Given the description of an element on the screen output the (x, y) to click on. 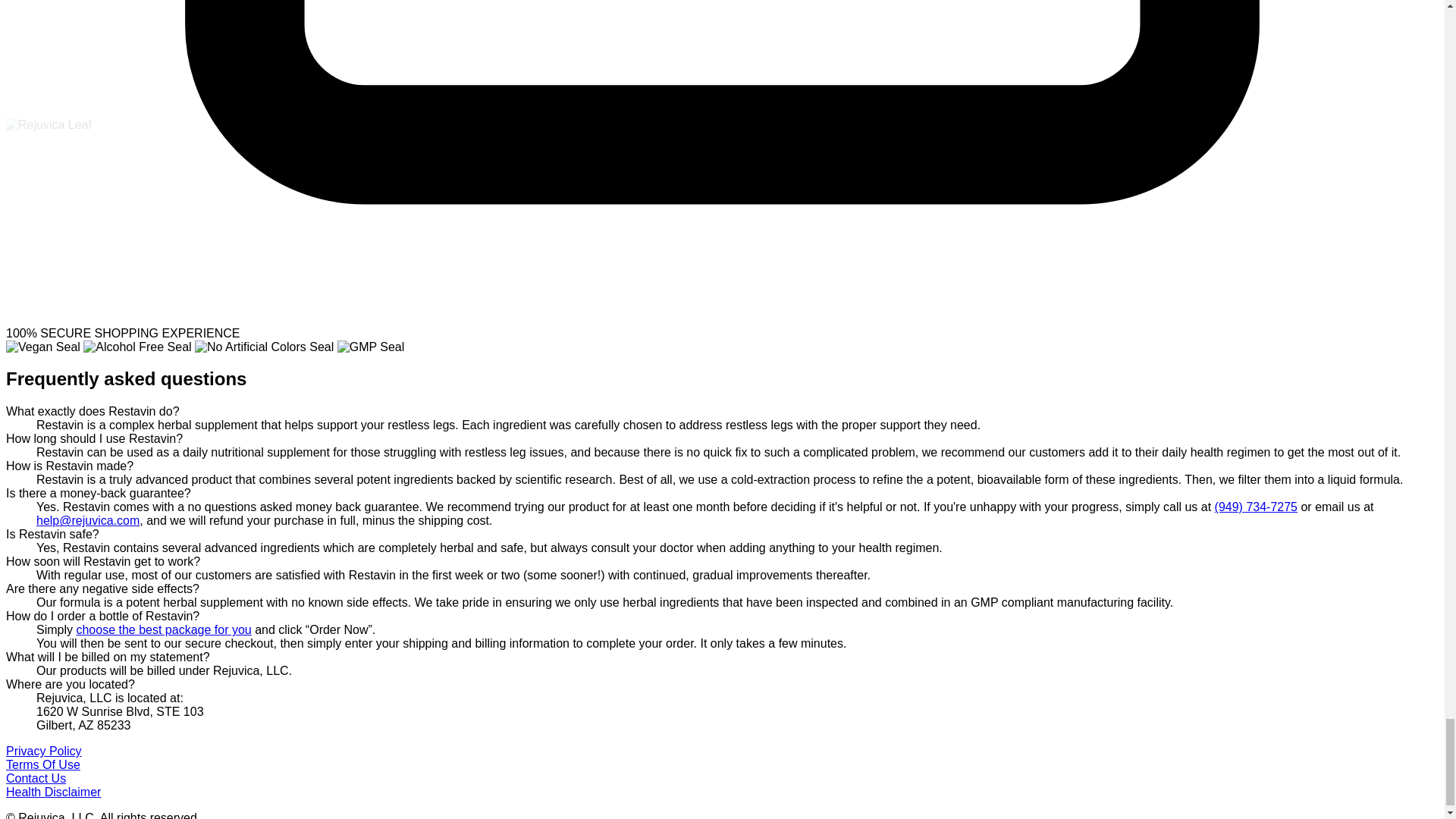
Contact Us (35, 778)
Privacy Policy (43, 750)
choose the best package for you (162, 629)
Health Disclaimer (52, 791)
Terms Of Use (42, 764)
